Given the description of an element on the screen output the (x, y) to click on. 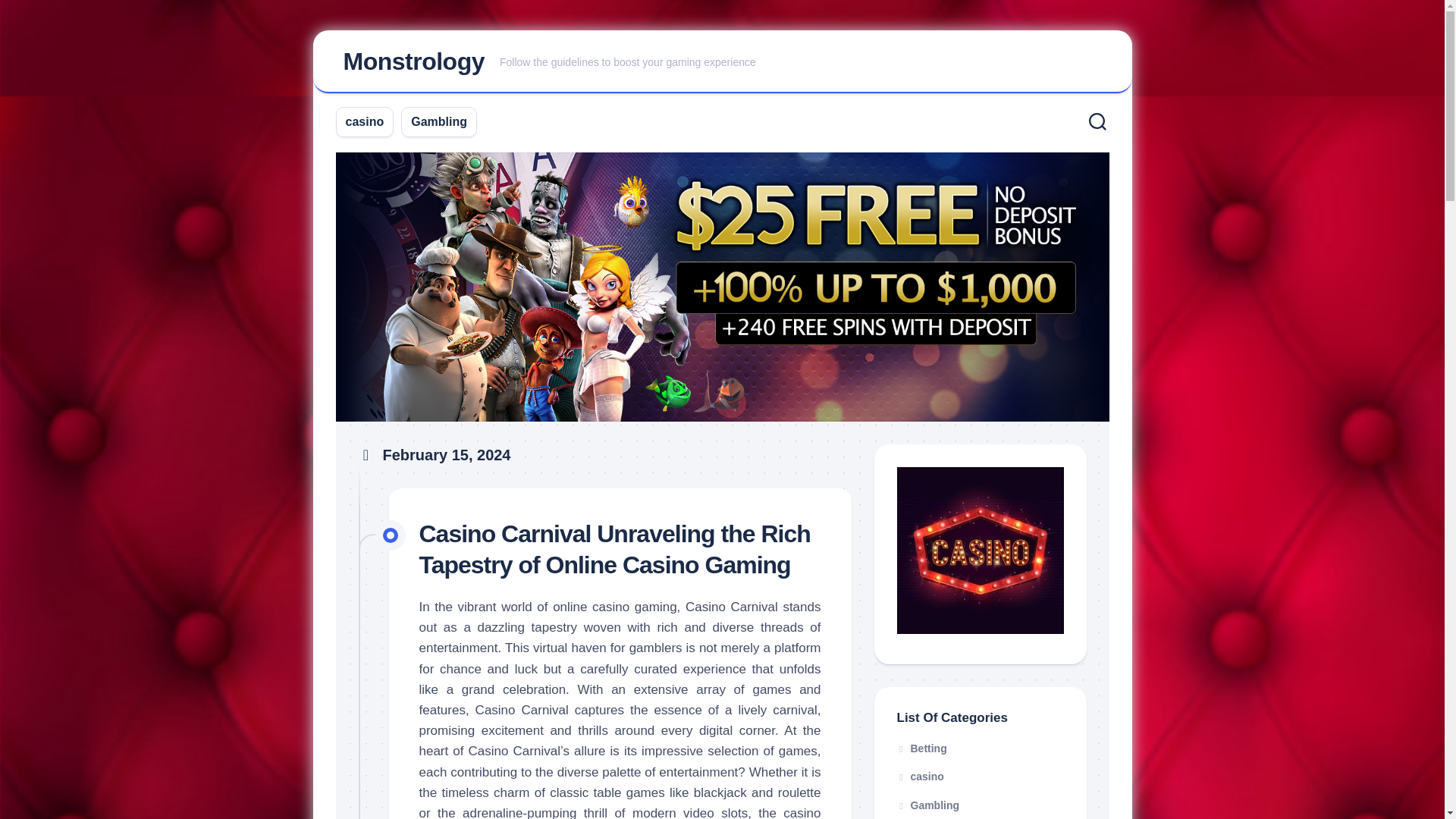
casino (365, 121)
casino (919, 776)
Gambling (927, 805)
Gambling (438, 121)
Betting (921, 748)
Monstrology (412, 61)
